Given the description of an element on the screen output the (x, y) to click on. 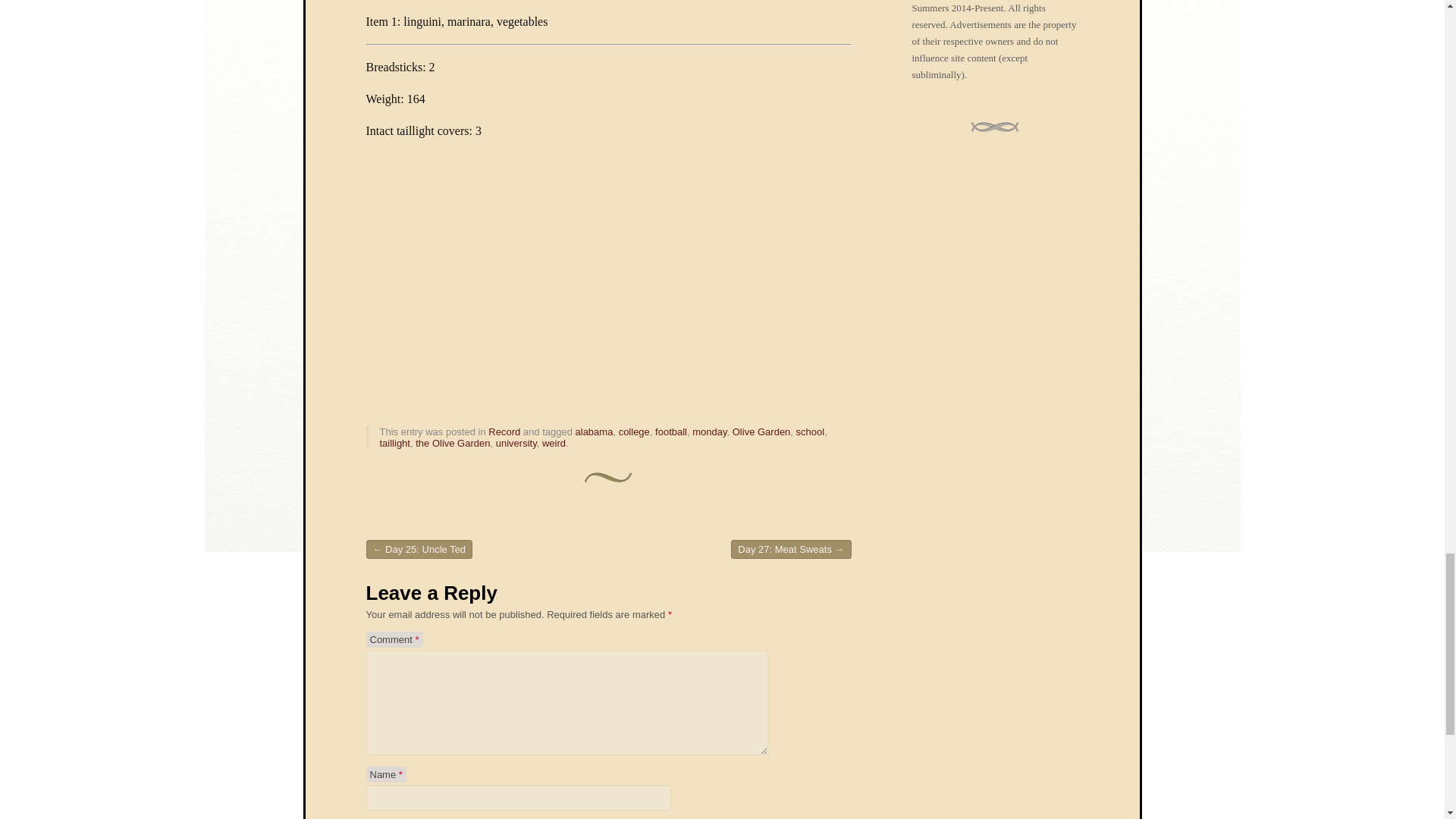
college (633, 431)
football (671, 431)
monday (709, 431)
the Olive Garden (451, 442)
alabama (593, 431)
university (516, 442)
Advertisement (736, 287)
weird (553, 442)
taillight (393, 442)
school (810, 431)
Olive Garden (761, 431)
Record (503, 431)
